Given the description of an element on the screen output the (x, y) to click on. 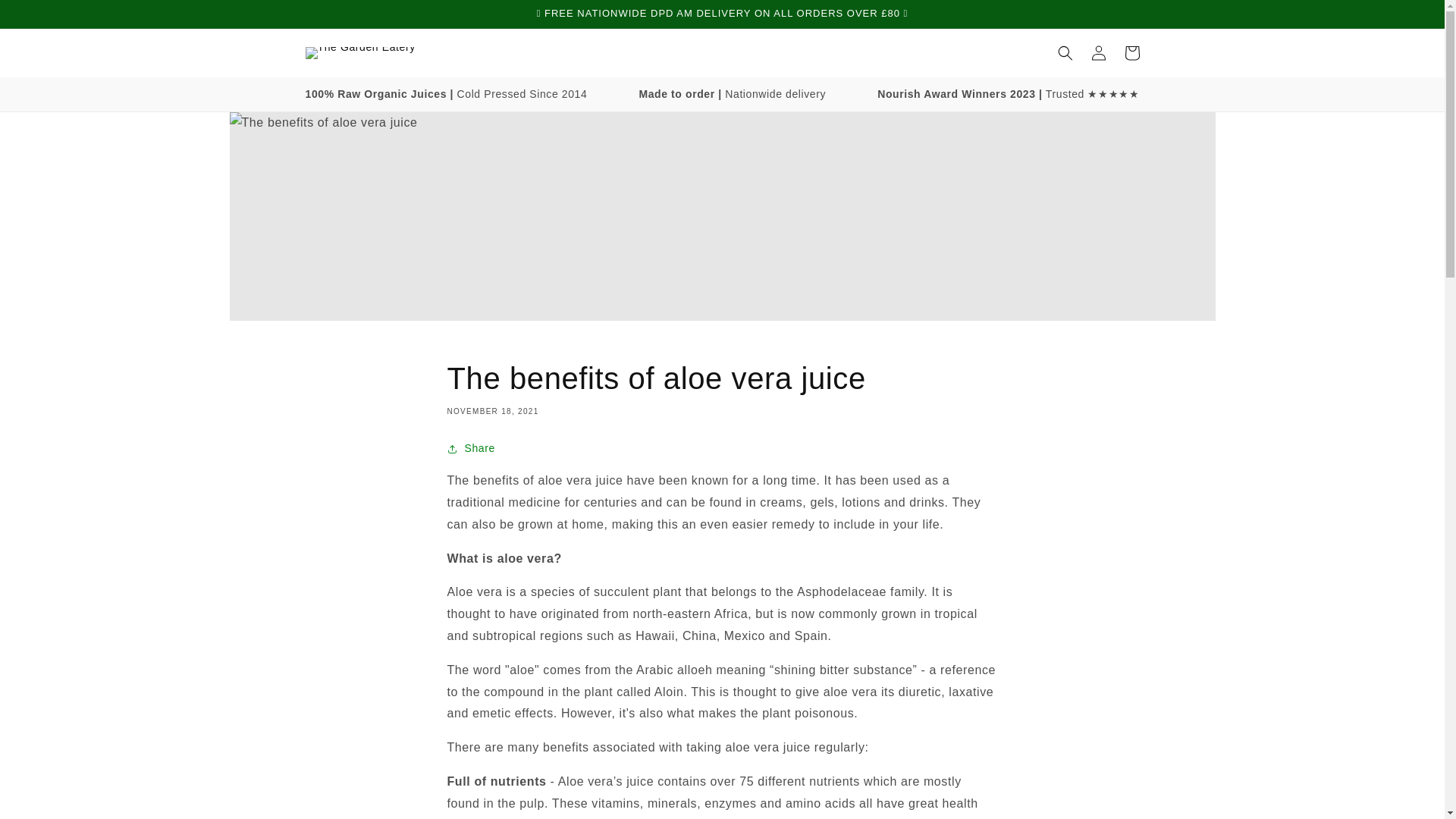
Skip to content (45, 17)
Log in (1098, 52)
Cart (1131, 52)
